Given the description of an element on the screen output the (x, y) to click on. 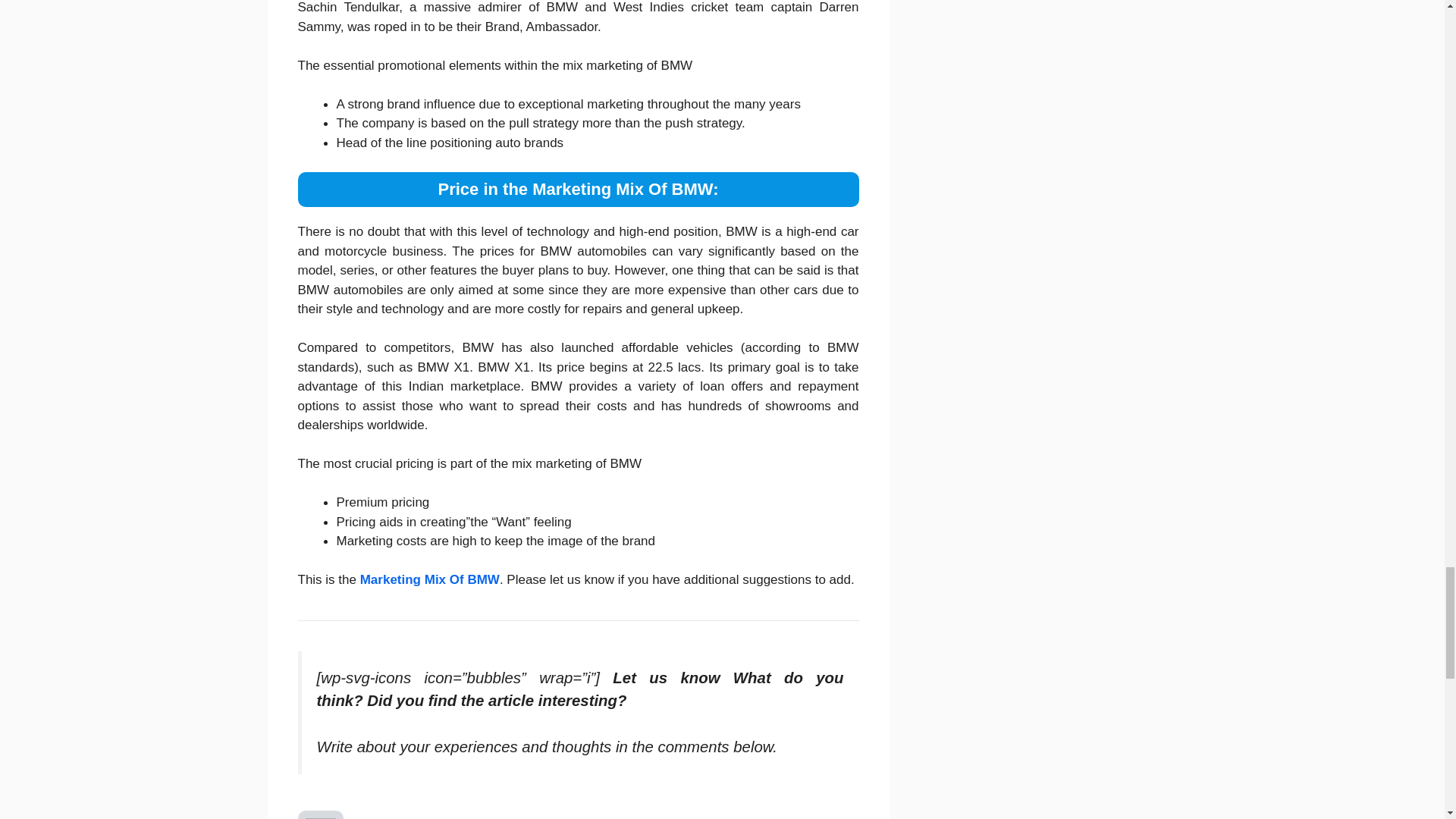
Marketing Mix Of BMW (429, 579)
